Given the description of an element on the screen output the (x, y) to click on. 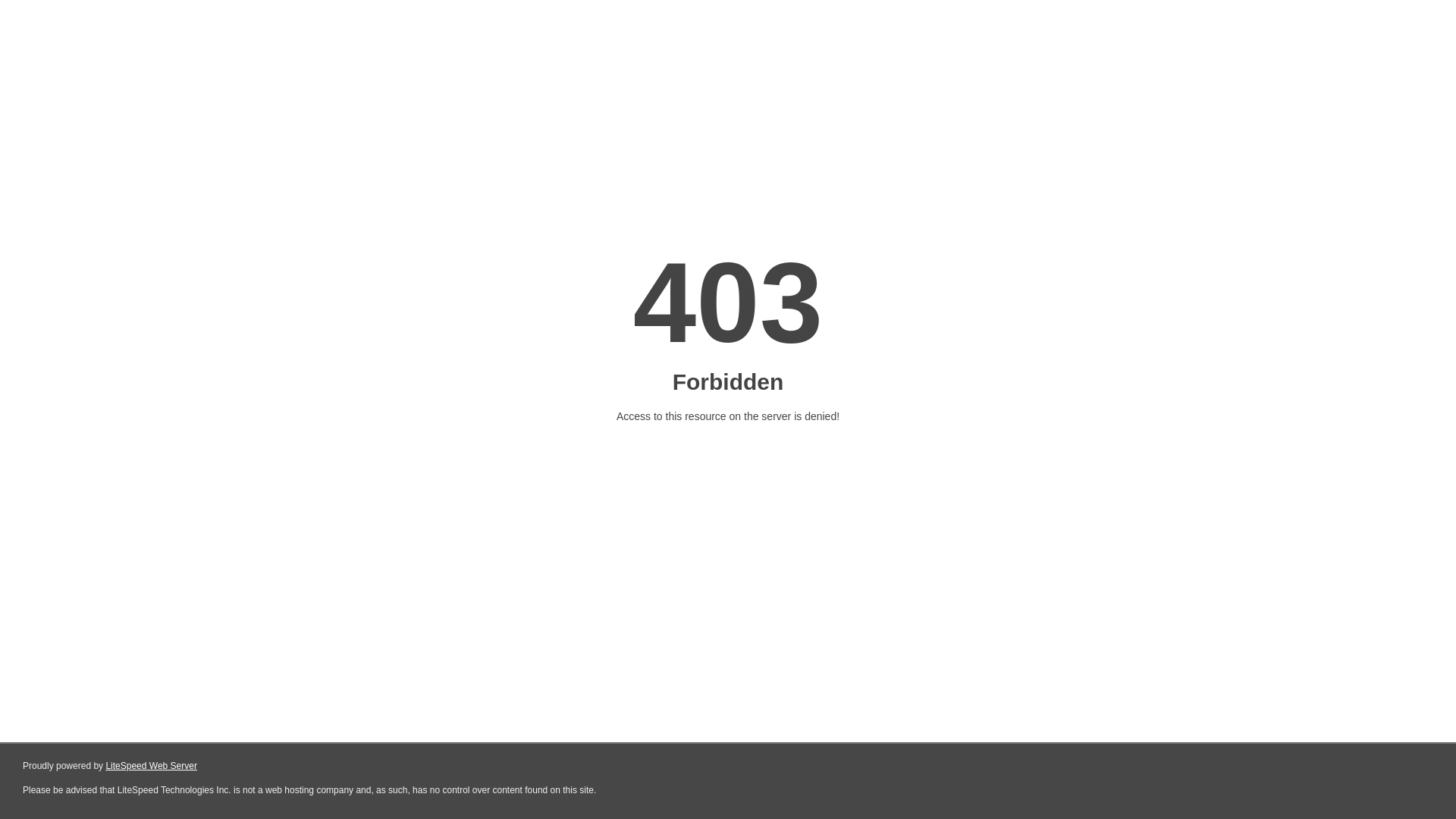
LiteSpeed Web Server (150, 765)
